Given the description of an element on the screen output the (x, y) to click on. 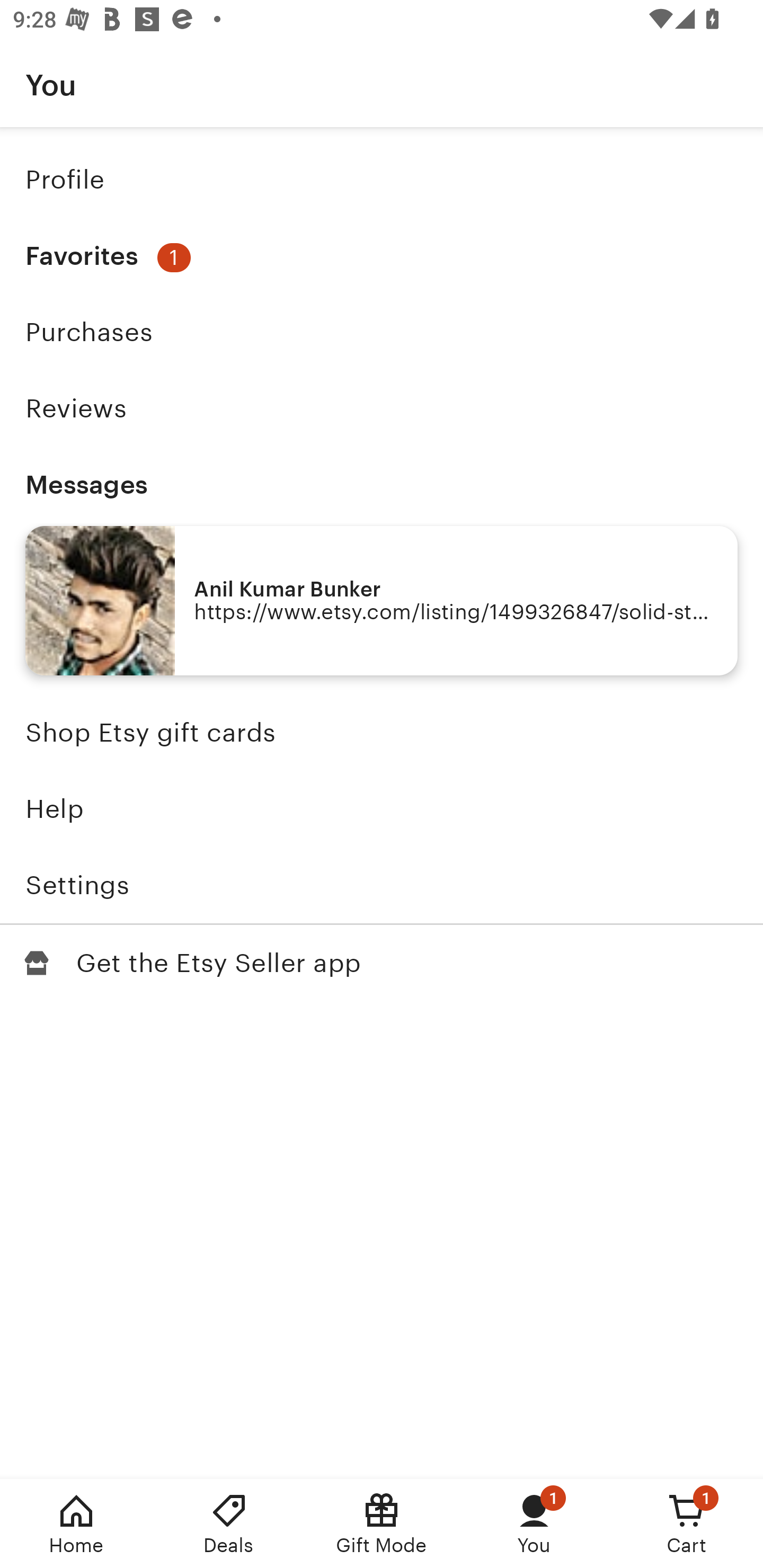
Profile (381, 179)
Favorites 1 (381, 255)
Purchases (381, 332)
Reviews (381, 408)
Messages (381, 484)
Shop Etsy gift cards (381, 732)
Help (381, 808)
Settings (381, 884)
Get the Etsy Seller app (381, 963)
Home (76, 1523)
Deals (228, 1523)
Gift Mode (381, 1523)
Cart, 1 new notification Cart (686, 1523)
